Given the description of an element on the screen output the (x, y) to click on. 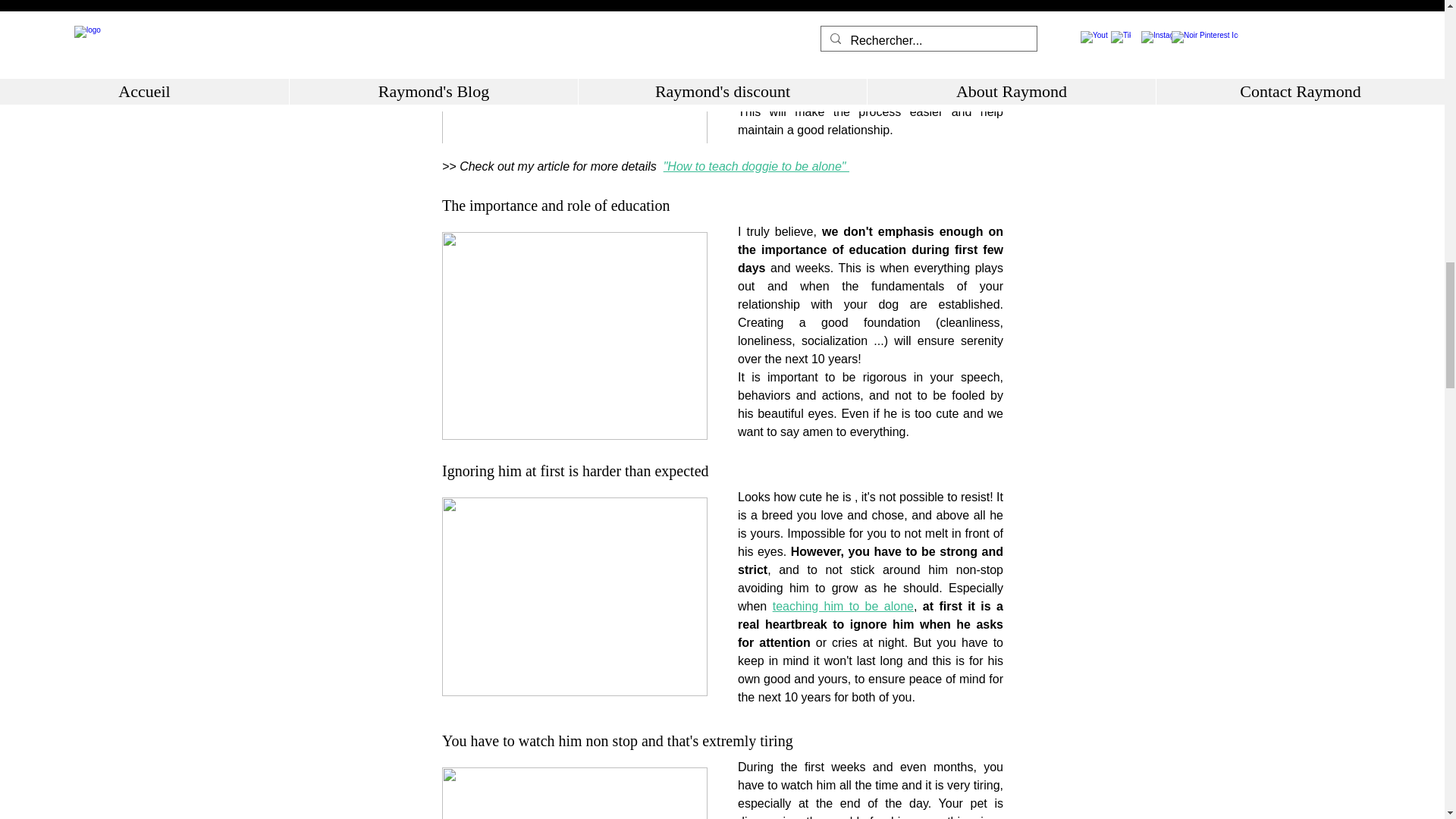
"How to teach doggie to be alone"  (755, 165)
teaching him to be alone (841, 605)
